Given the description of an element on the screen output the (x, y) to click on. 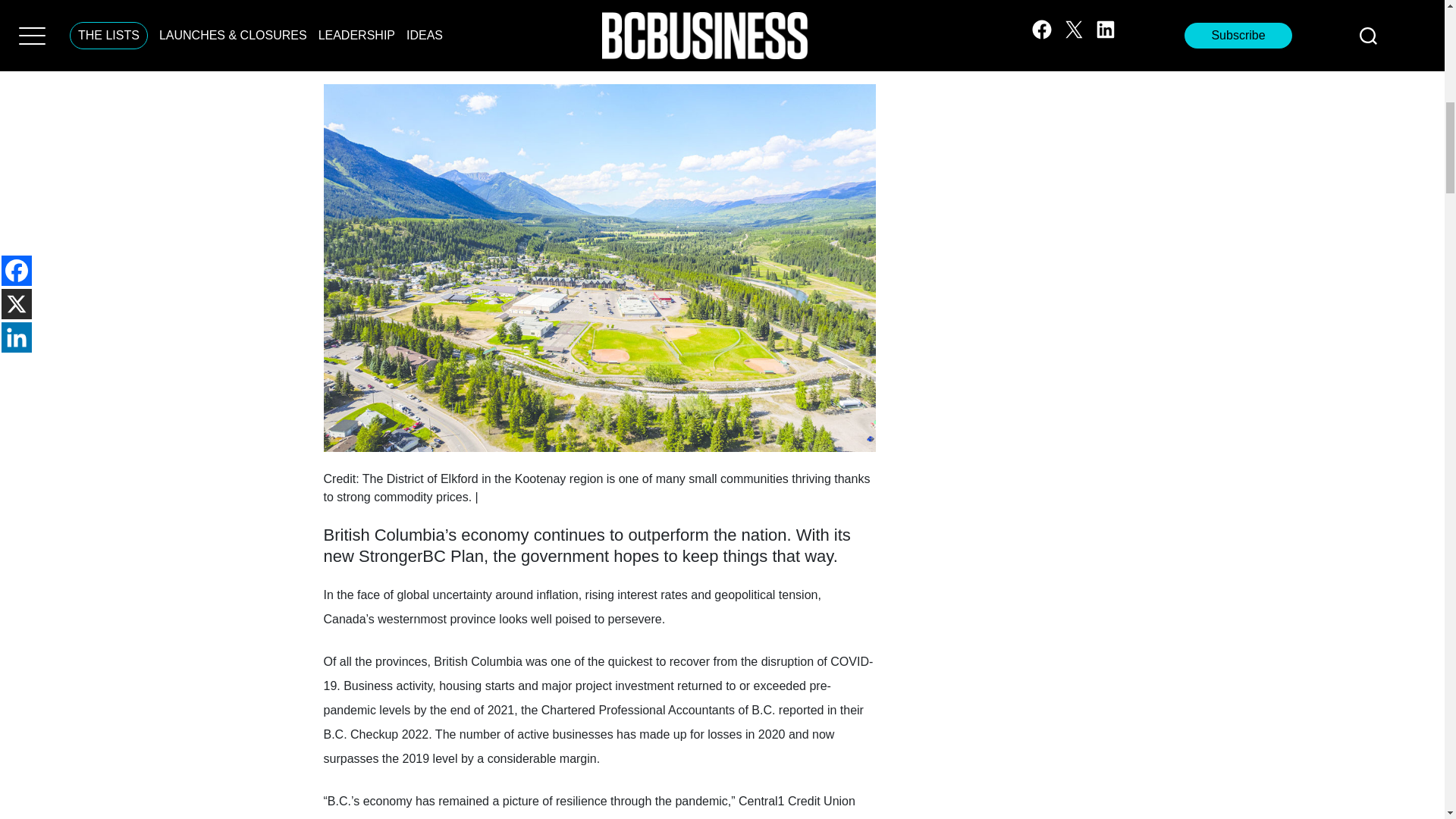
3rd party ad content (599, 30)
3rd party ad content (1084, 124)
3rd party ad content (1084, 8)
